Given the description of an element on the screen output the (x, y) to click on. 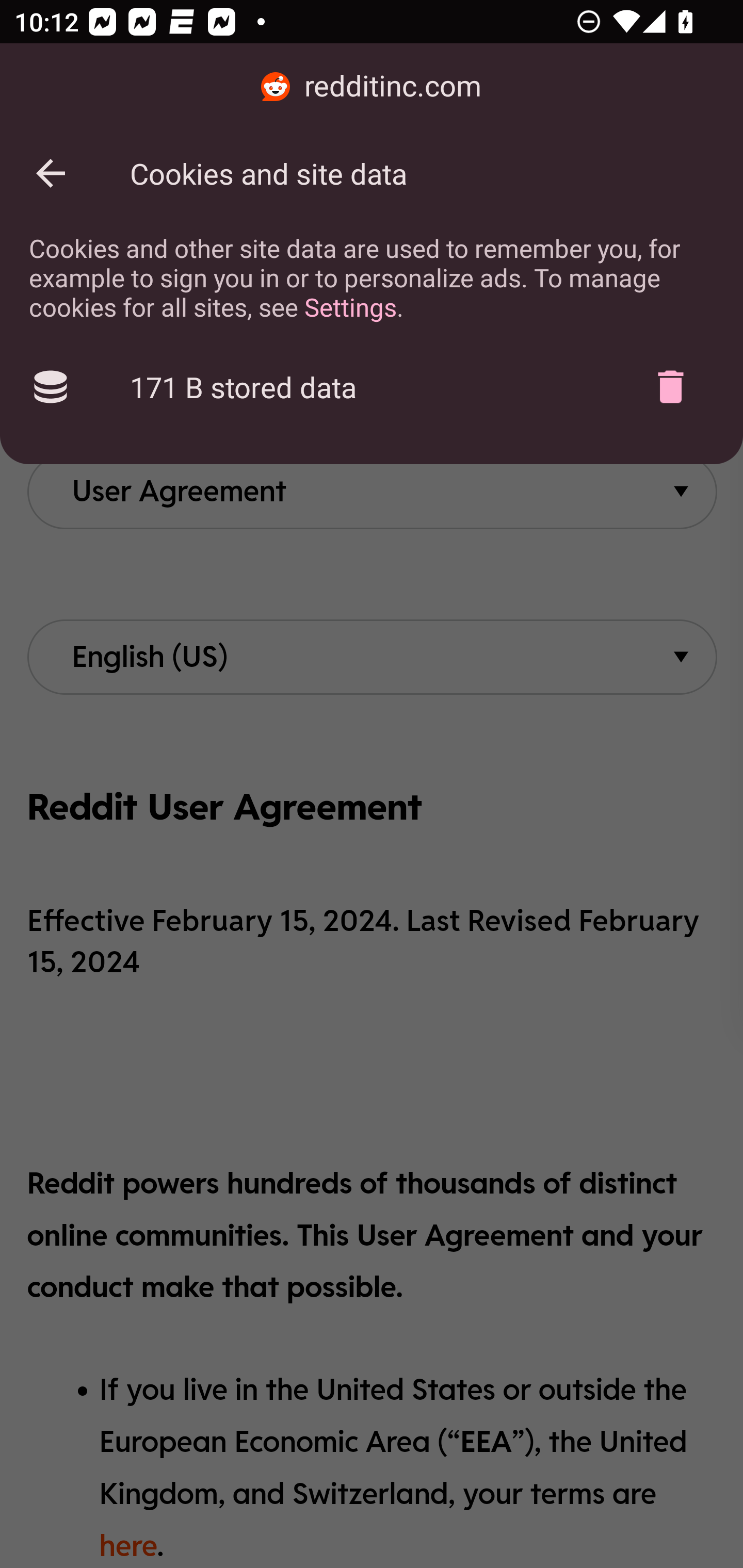
redditinc.com (371, 86)
Back (50, 173)
171 B stored data Delete cookies? (371, 386)
